Given the description of an element on the screen output the (x, y) to click on. 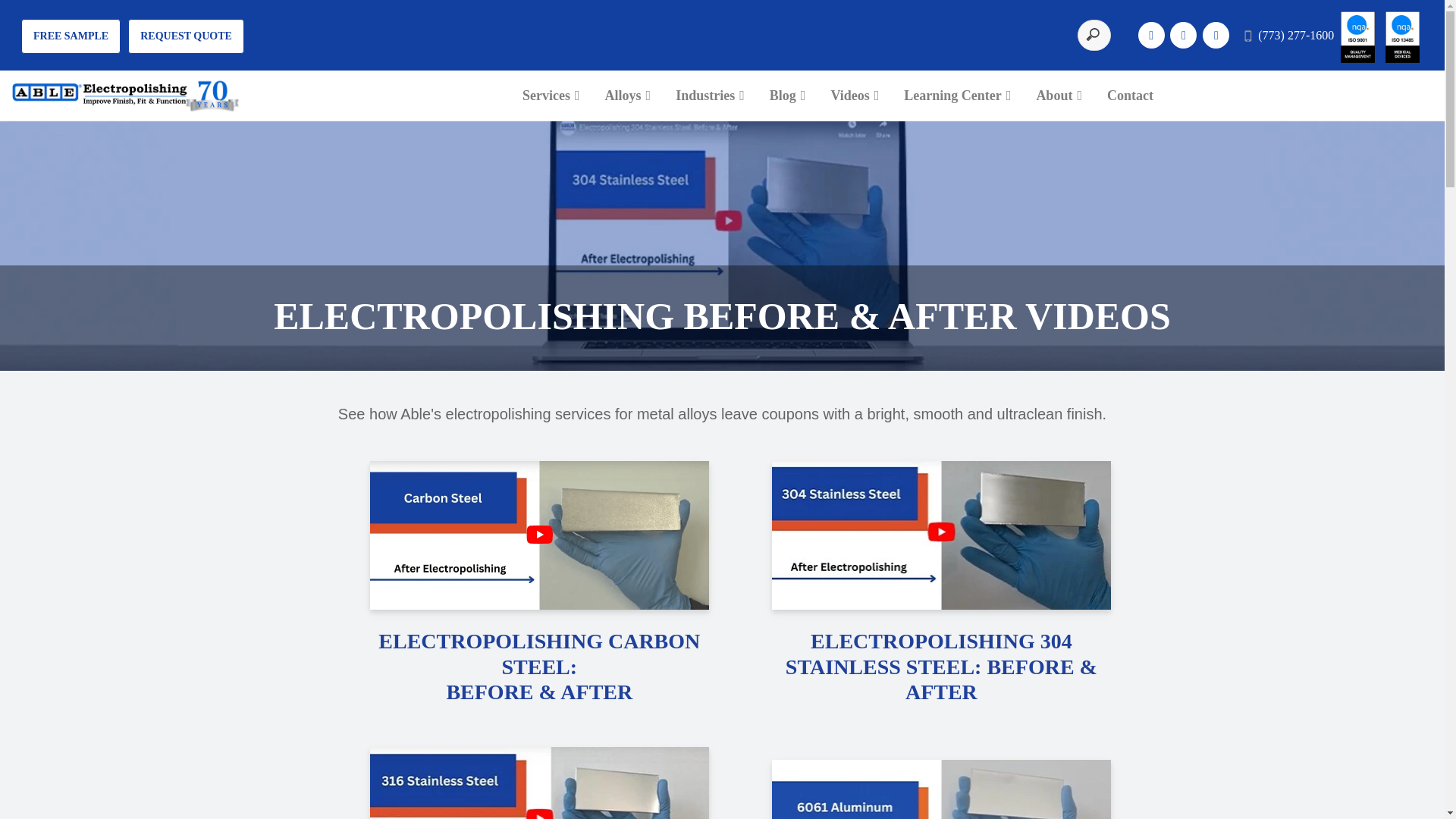
FREE SAMPLE (70, 36)
REQUEST QUOTE (186, 36)
Services (551, 95)
Alloys (627, 95)
